Given the description of an element on the screen output the (x, y) to click on. 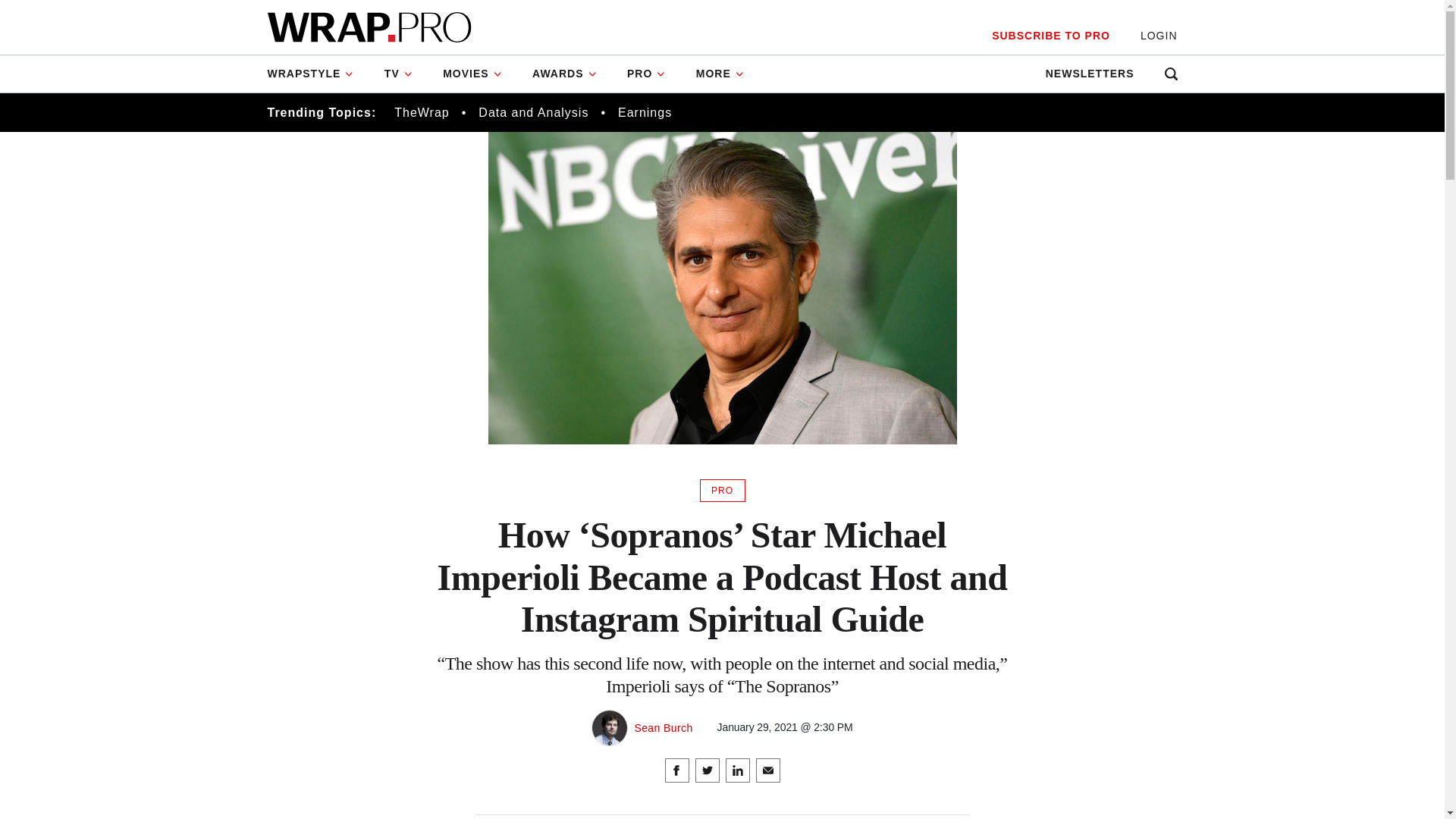
AWARDS (563, 73)
LOGIN (1158, 35)
PRO (646, 73)
TV (398, 73)
SUBSCRIBE TO PRO (1050, 35)
MORE (719, 73)
MOVIES (472, 73)
WRAPSTYLE (317, 73)
Posts by Sean Burch (663, 727)
